Given the description of an element on the screen output the (x, y) to click on. 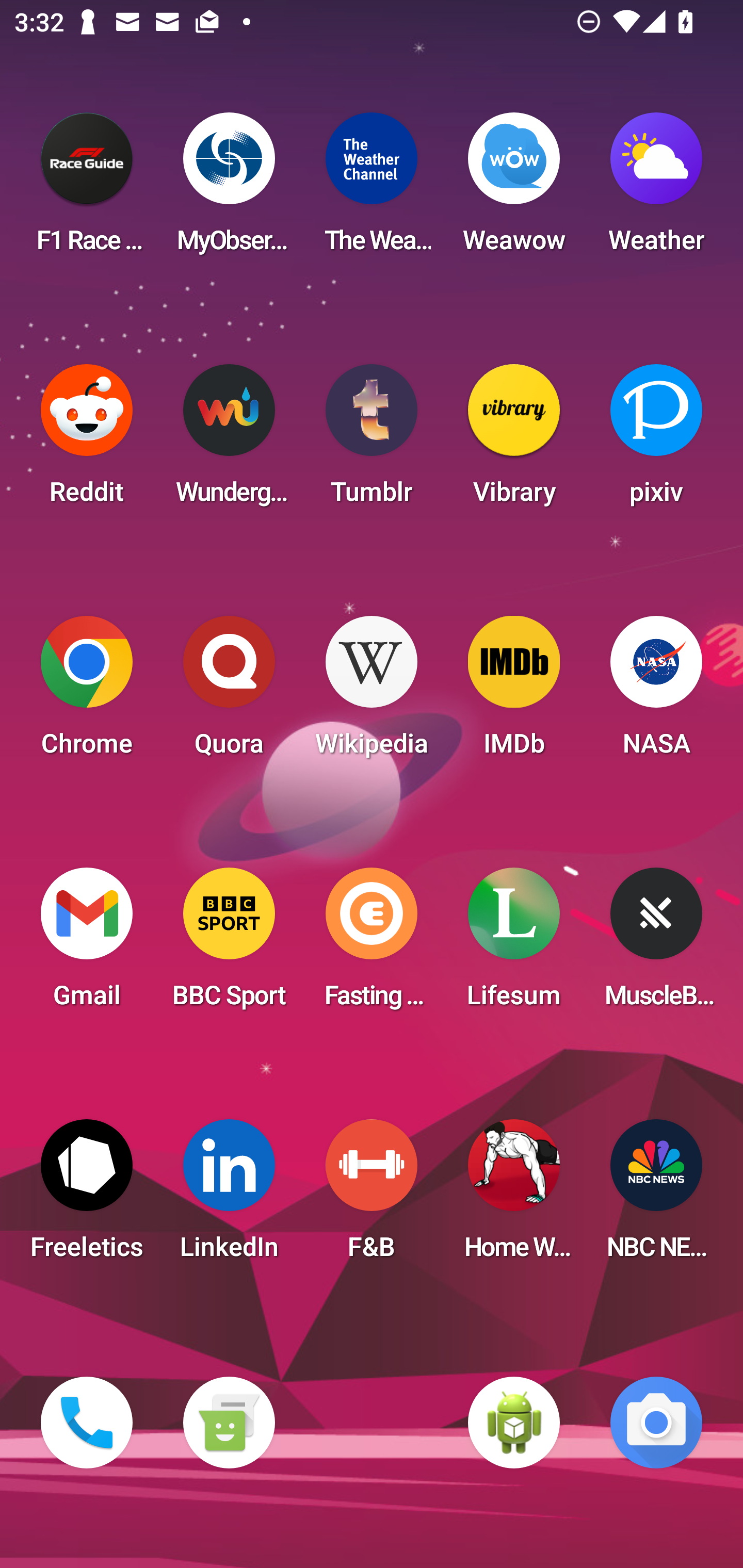
F1 Race Guide (86, 188)
MyObservatory (228, 188)
The Weather Channel (371, 188)
Weawow (513, 188)
Weather (656, 188)
Reddit (86, 440)
Wunderground (228, 440)
Tumblr (371, 440)
Vibrary (513, 440)
pixiv (656, 440)
Chrome (86, 692)
Quora (228, 692)
Wikipedia (371, 692)
IMDb (513, 692)
NASA (656, 692)
Gmail (86, 943)
BBC Sport (228, 943)
Fasting Coach (371, 943)
Lifesum (513, 943)
MuscleBooster (656, 943)
Freeletics (86, 1195)
LinkedIn (228, 1195)
F&B (371, 1195)
Home Workout (513, 1195)
NBC NEWS (656, 1195)
Phone (86, 1422)
Messaging (228, 1422)
WebView Browser Tester (513, 1422)
Camera (656, 1422)
